Given the description of an element on the screen output the (x, y) to click on. 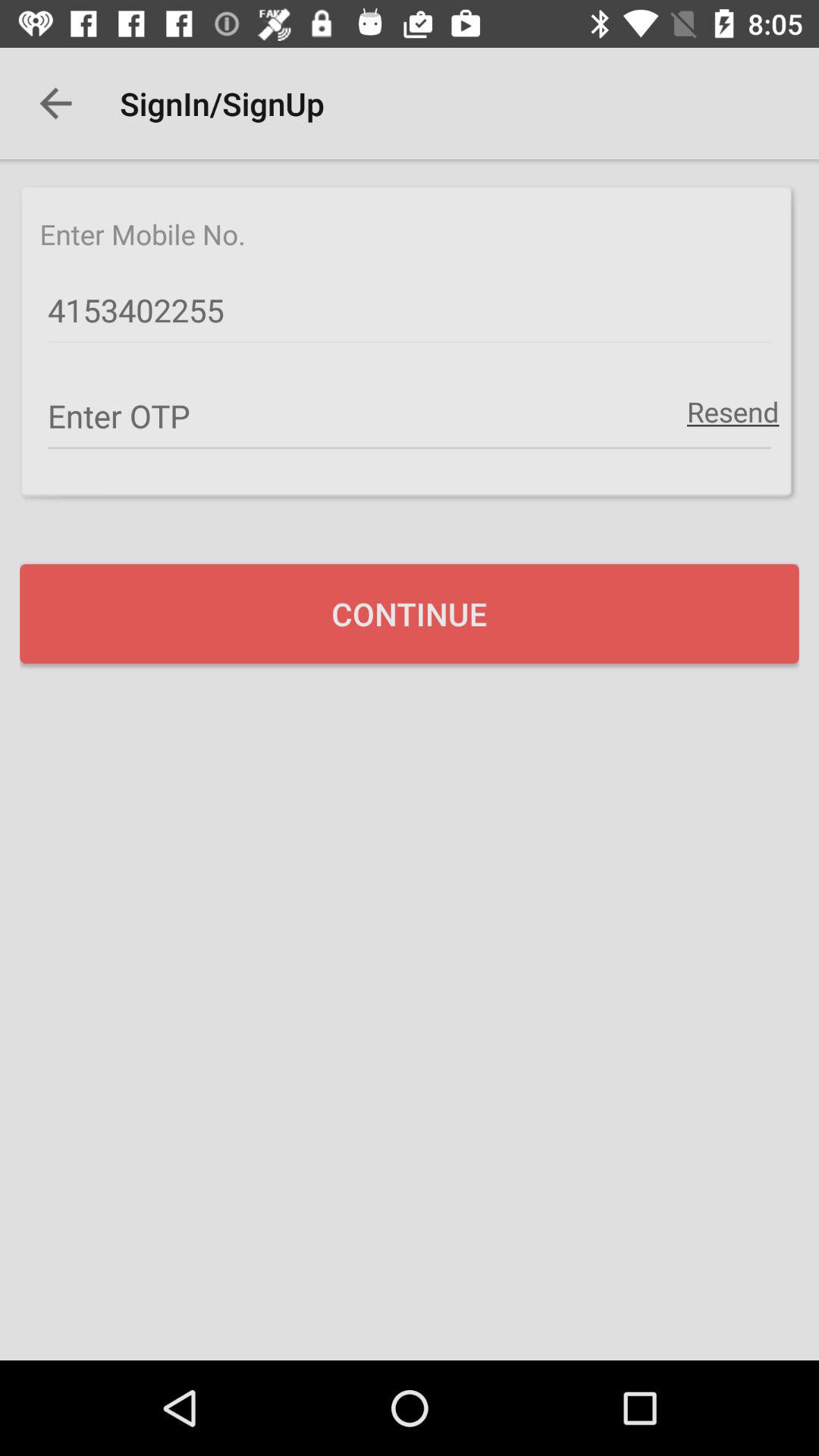
jump to the resend icon (733, 411)
